Given the description of an element on the screen output the (x, y) to click on. 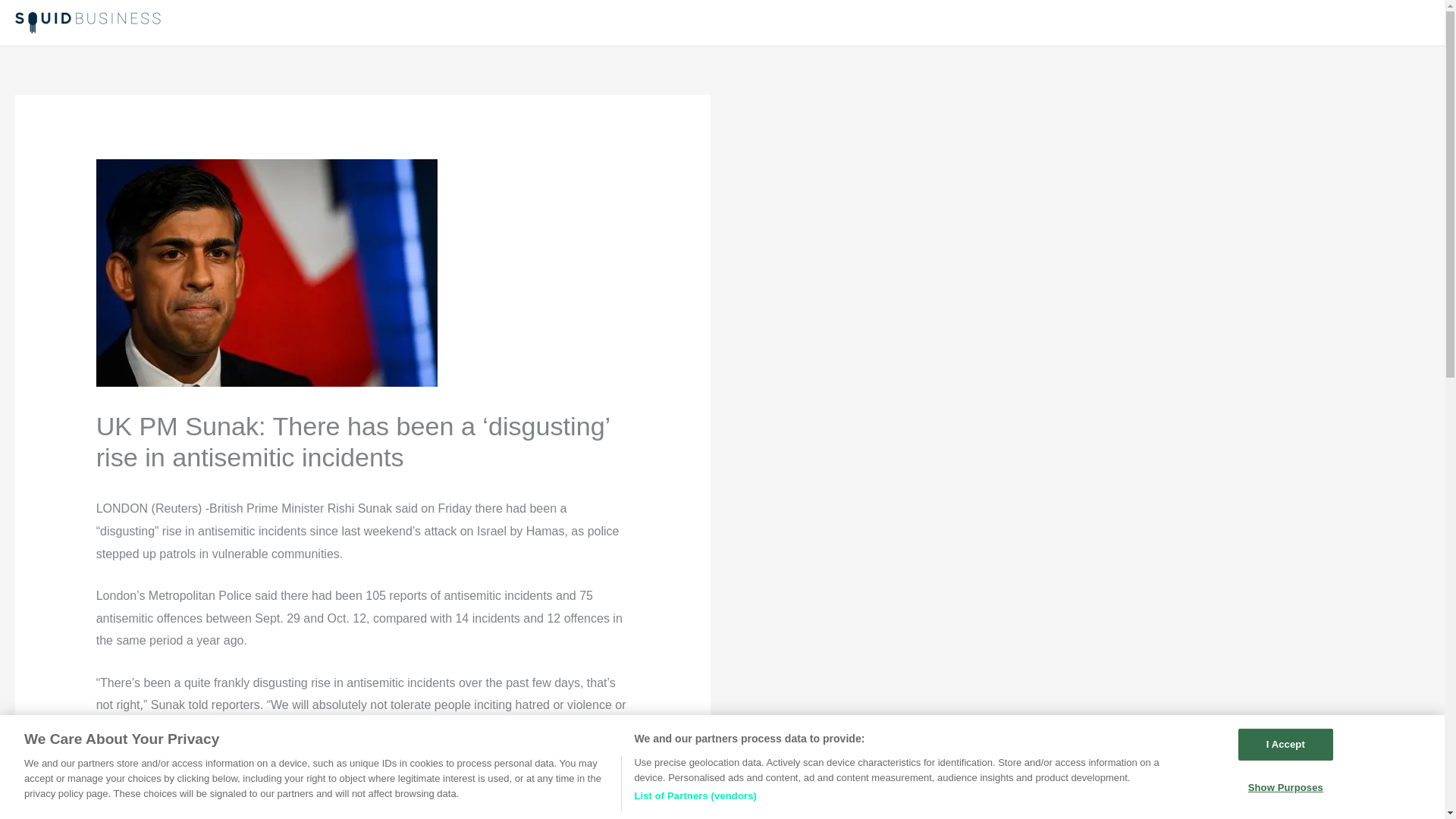
Show Purposes (1286, 788)
I Accept (1286, 744)
